Given the description of an element on the screen output the (x, y) to click on. 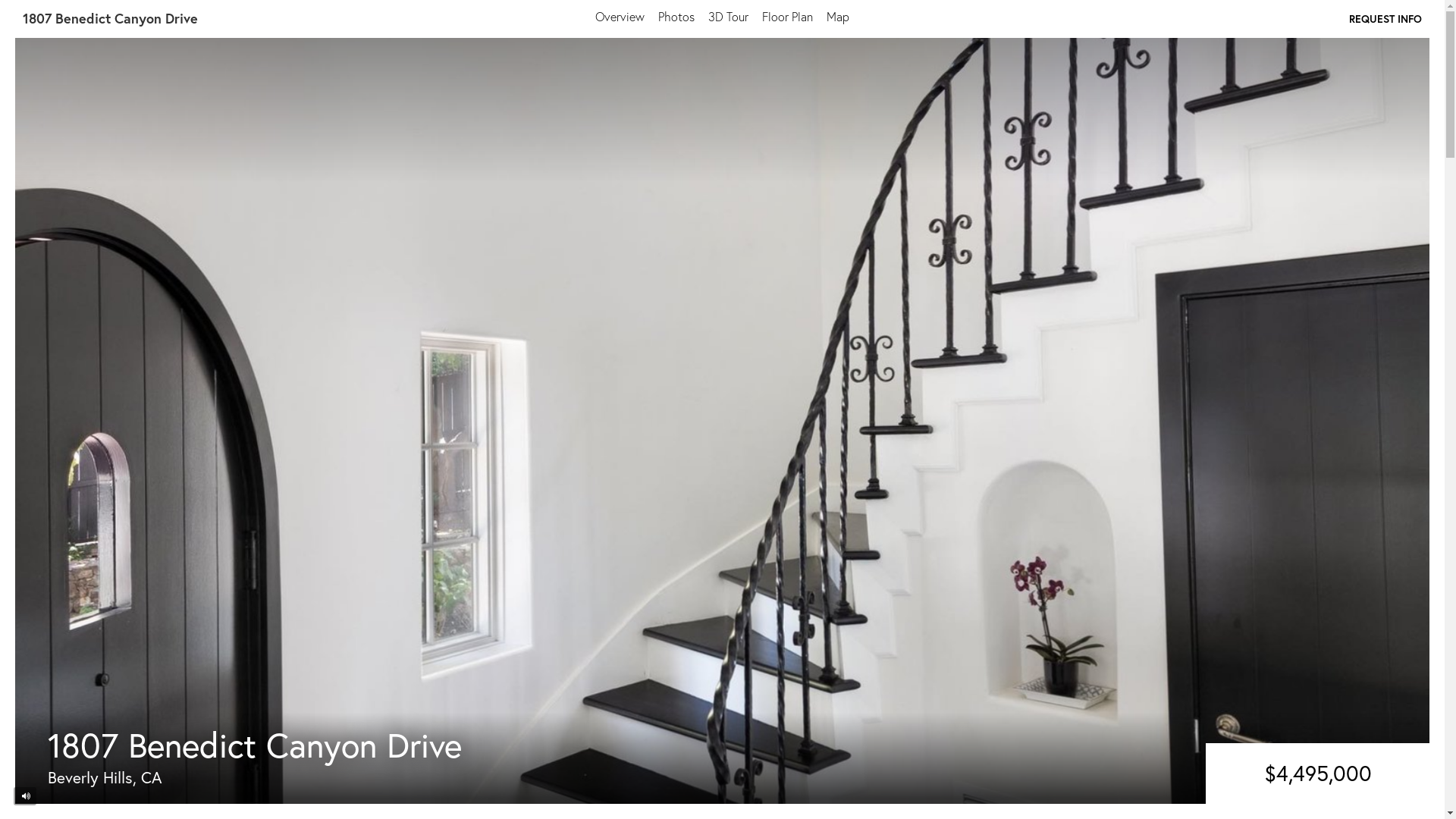
Photos Element type: text (676, 16)
REQUEST INFO Element type: text (1385, 18)
Floor Plan Element type: text (787, 16)
Map Element type: text (837, 16)
3D Tour Element type: text (728, 16)
Overview Element type: text (619, 16)
